Given the description of an element on the screen output the (x, y) to click on. 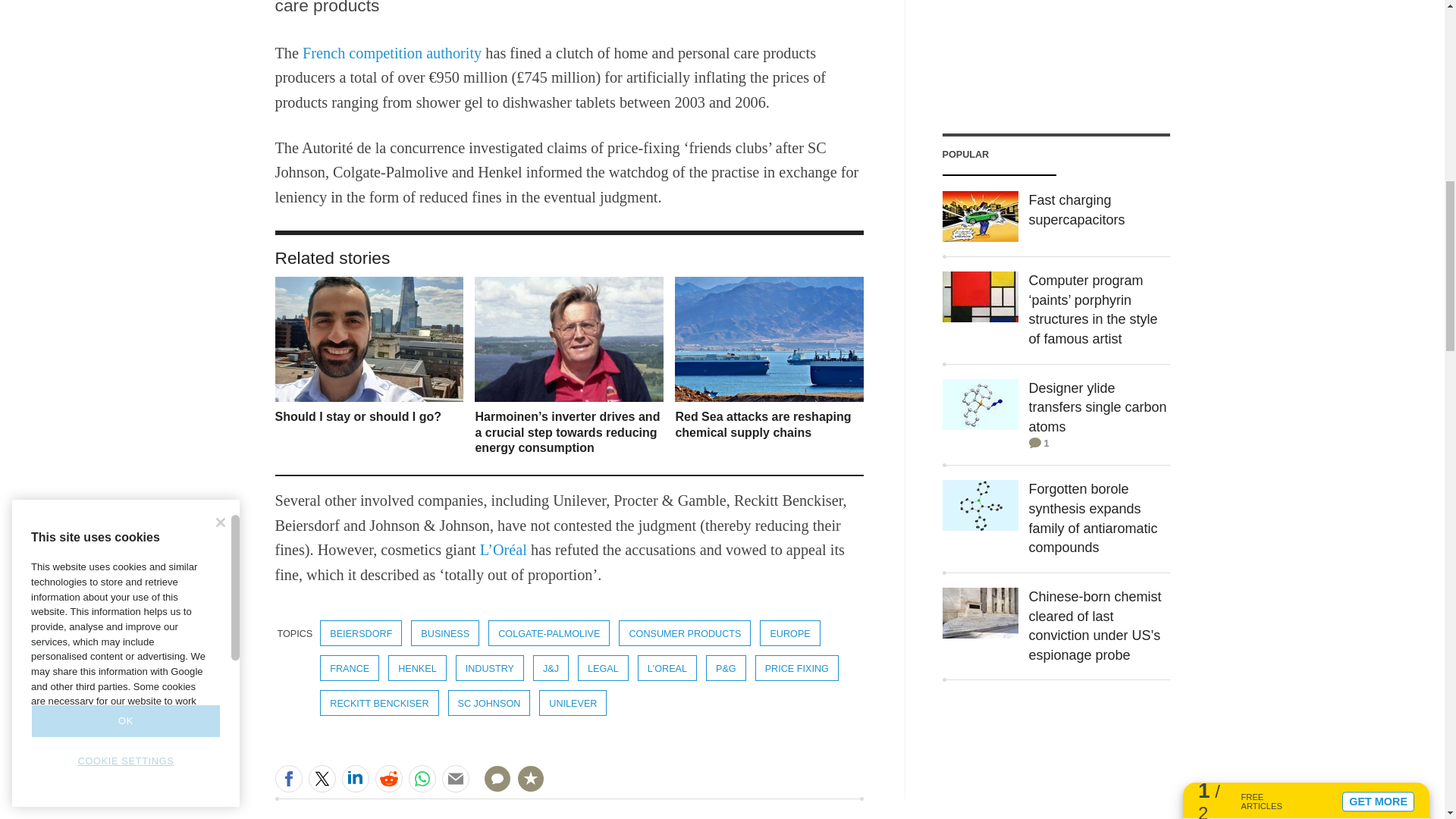
Share this on Facebook (288, 778)
Share this on LinkedIn (354, 778)
Share this by email (454, 778)
3rd party ad content (1055, 48)
Share this on WhatsApp (421, 778)
Share this on Reddit (387, 778)
NO COMMENTS (492, 787)
